Given the description of an element on the screen output the (x, y) to click on. 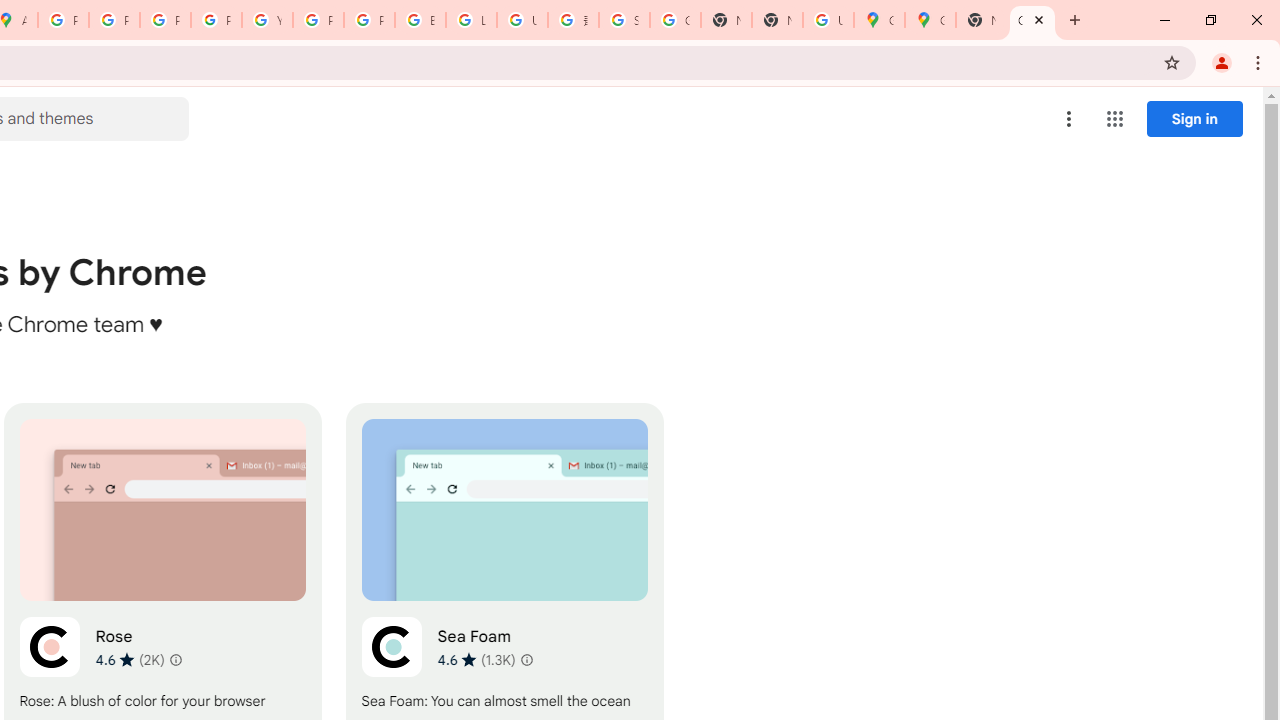
Chrome Web Store - Color themes by Chrome (1032, 20)
Google Maps (930, 20)
Average rating 4.6 out of 5 stars. 2K ratings. (129, 659)
Learn more about results and reviews "Sea Foam" (526, 659)
New Tab (981, 20)
New Tab (776, 20)
Sign in - Google Accounts (624, 20)
YouTube (267, 20)
